Given the description of an element on the screen output the (x, y) to click on. 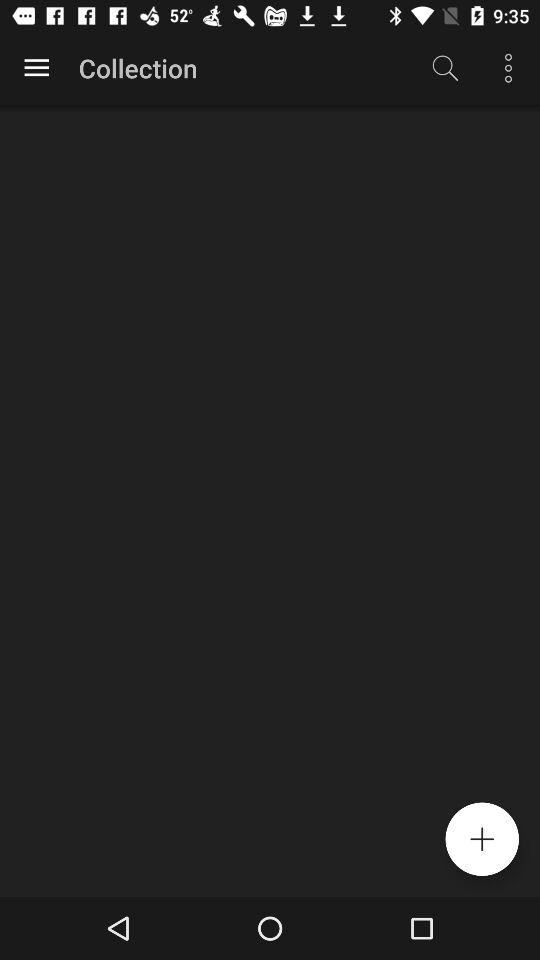
turn on the icon to the right of collection icon (444, 67)
